Given the description of an element on the screen output the (x, y) to click on. 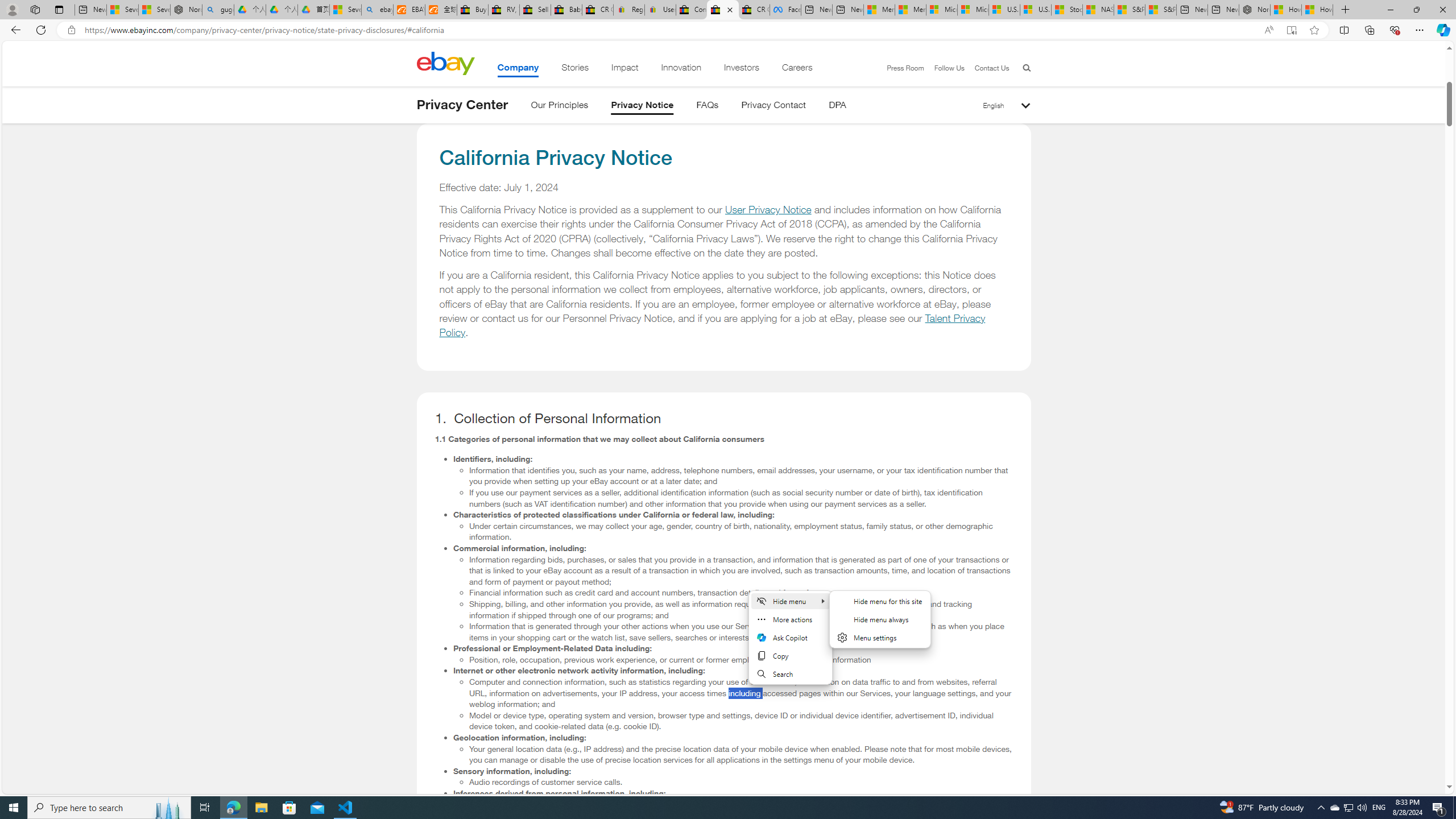
guge yunpan - Search (218, 9)
Search (789, 674)
Our Principles (558, 107)
Copy (789, 656)
User Privacy Notice (767, 209)
Talent Privacy Policy (712, 325)
